Given the description of an element on the screen output the (x, y) to click on. 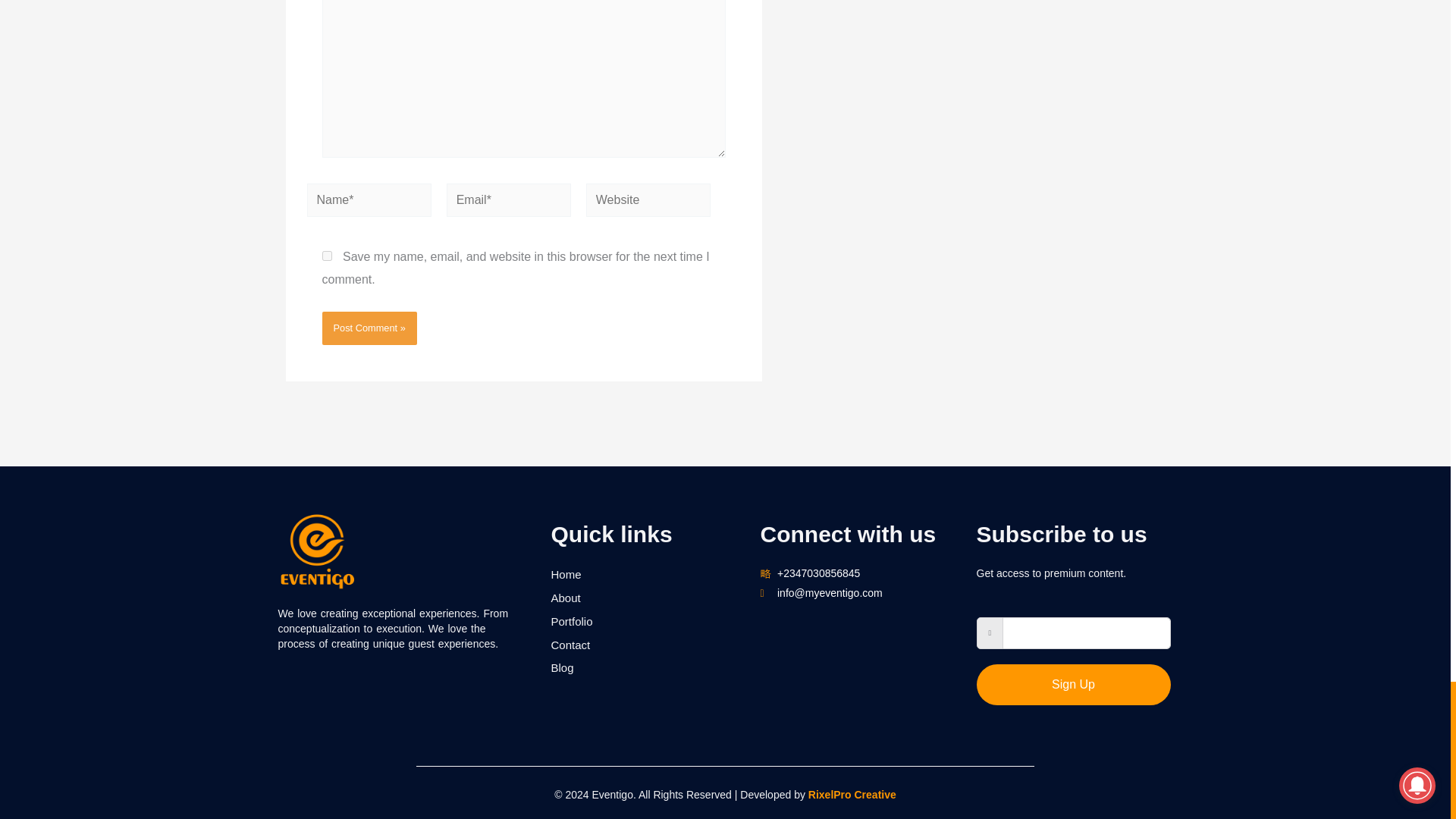
yes (326, 255)
